Given the description of an element on the screen output the (x, y) to click on. 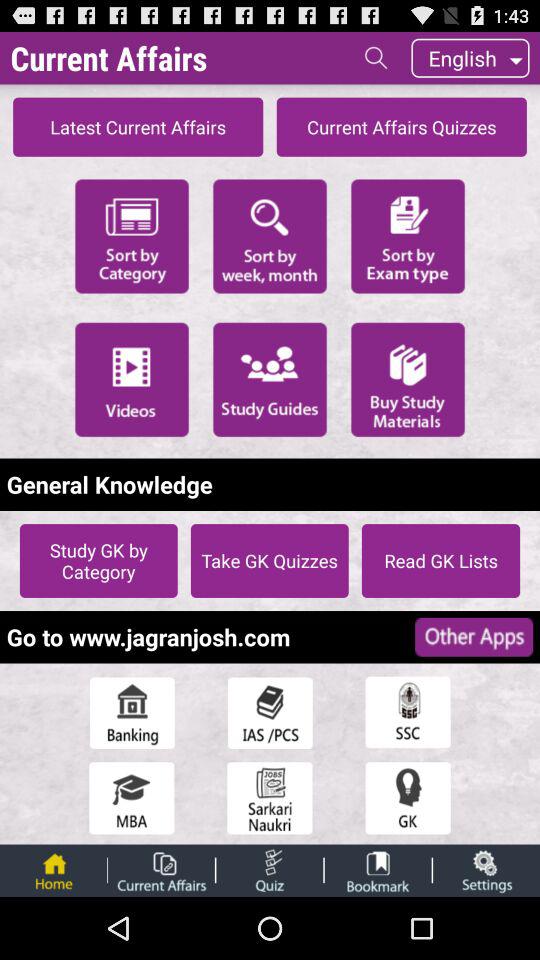
select banking (131, 712)
